Given the description of an element on the screen output the (x, y) to click on. 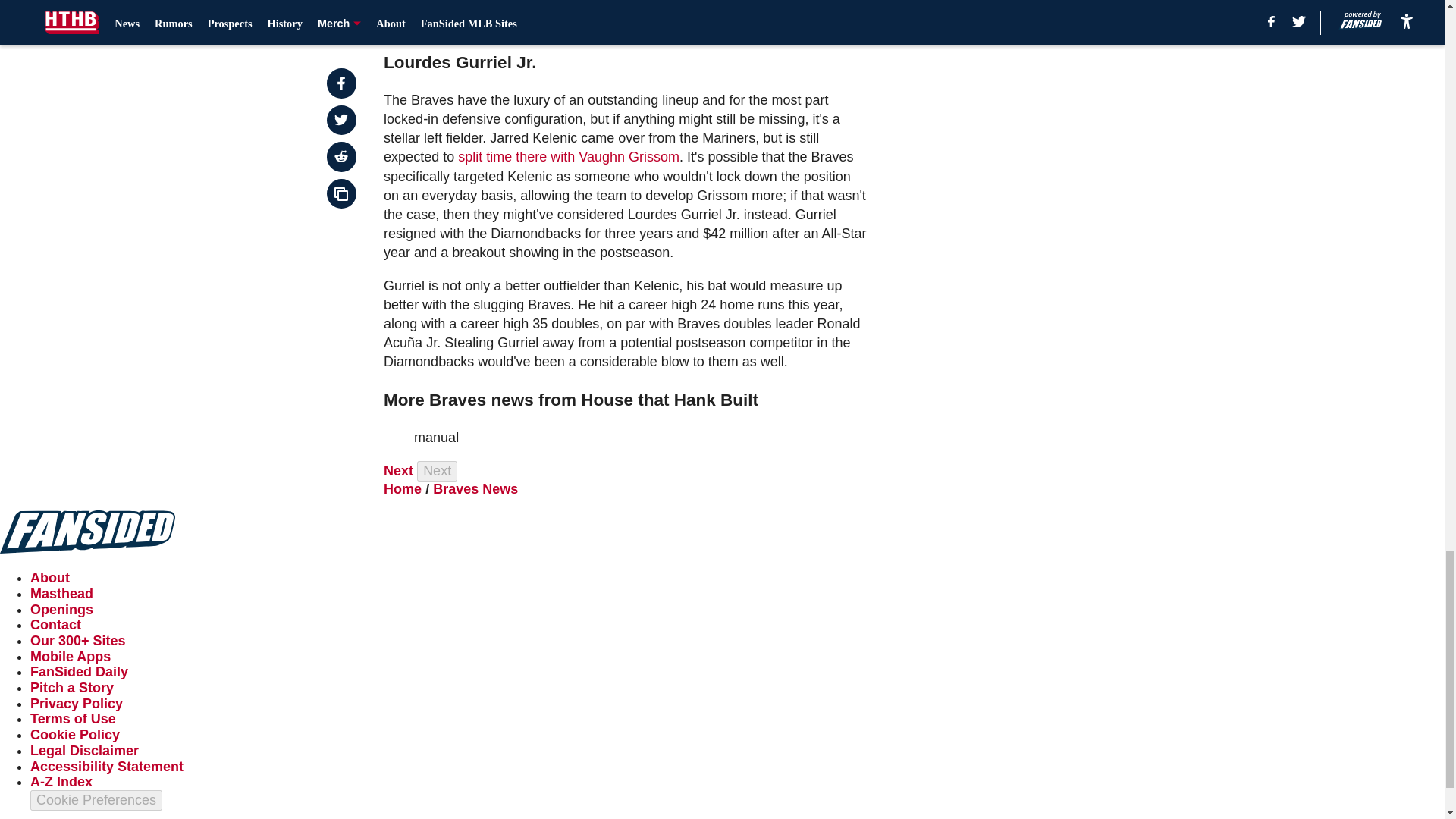
split time there with Vaughn Grissom (568, 156)
Braves News (475, 488)
Next (398, 470)
Home (403, 488)
Next (436, 471)
